Given the description of an element on the screen output the (x, y) to click on. 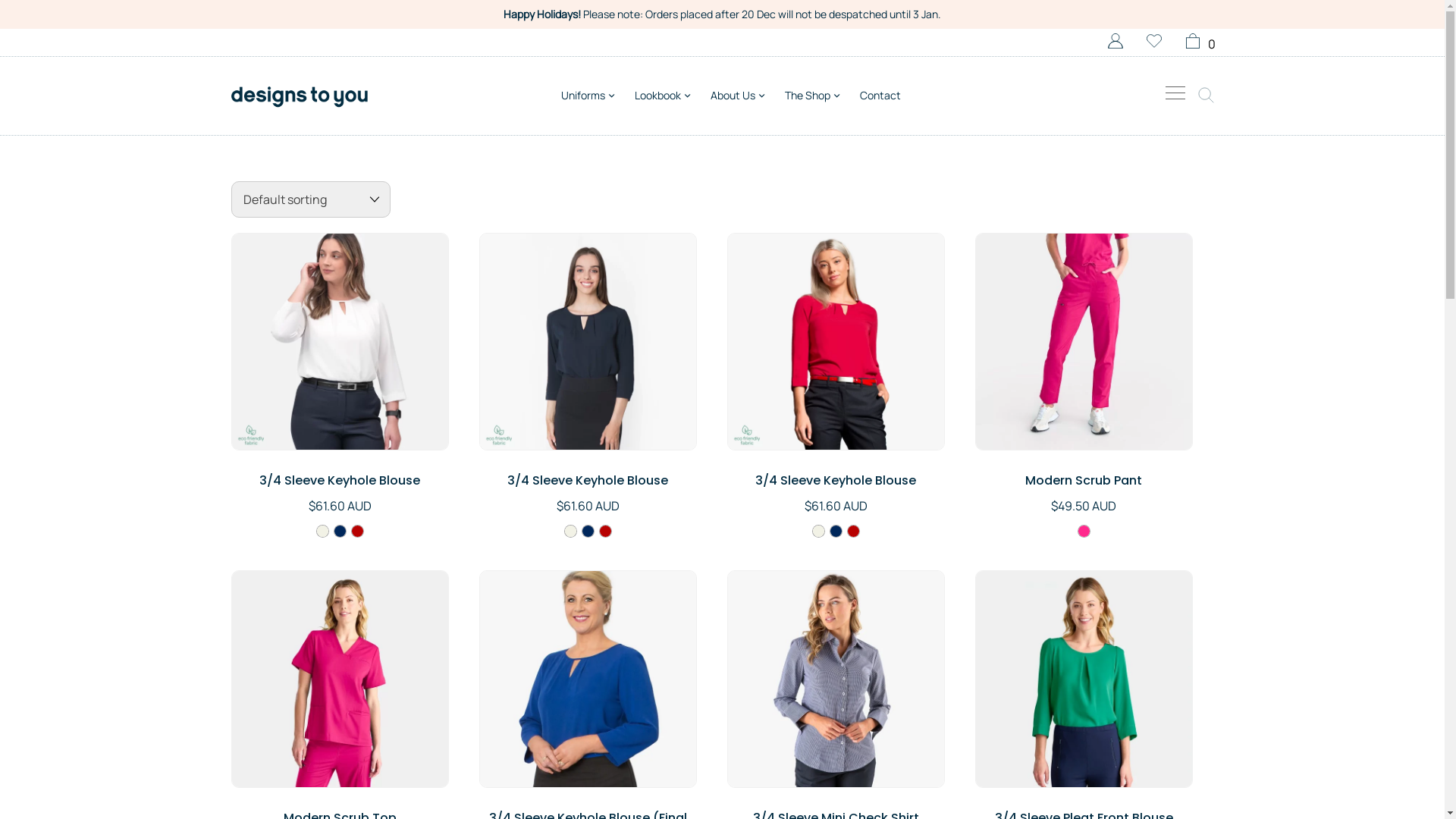
About Us Element type: text (737, 95)
0 Element type: text (1196, 43)
Contact Element type: text (880, 95)
Uniforms Element type: text (588, 95)
The Shop Element type: text (812, 95)
3/4 Sleeve Keyhole Blouse Element type: text (339, 480)
3/4 Sleeve Keyhole Blouse Element type: text (587, 480)
Modern Scrub Pant Element type: text (1083, 480)
Lookbook Element type: text (663, 95)
3/4 Sleeve Keyhole Blouse Element type: text (835, 480)
